Given the description of an element on the screen output the (x, y) to click on. 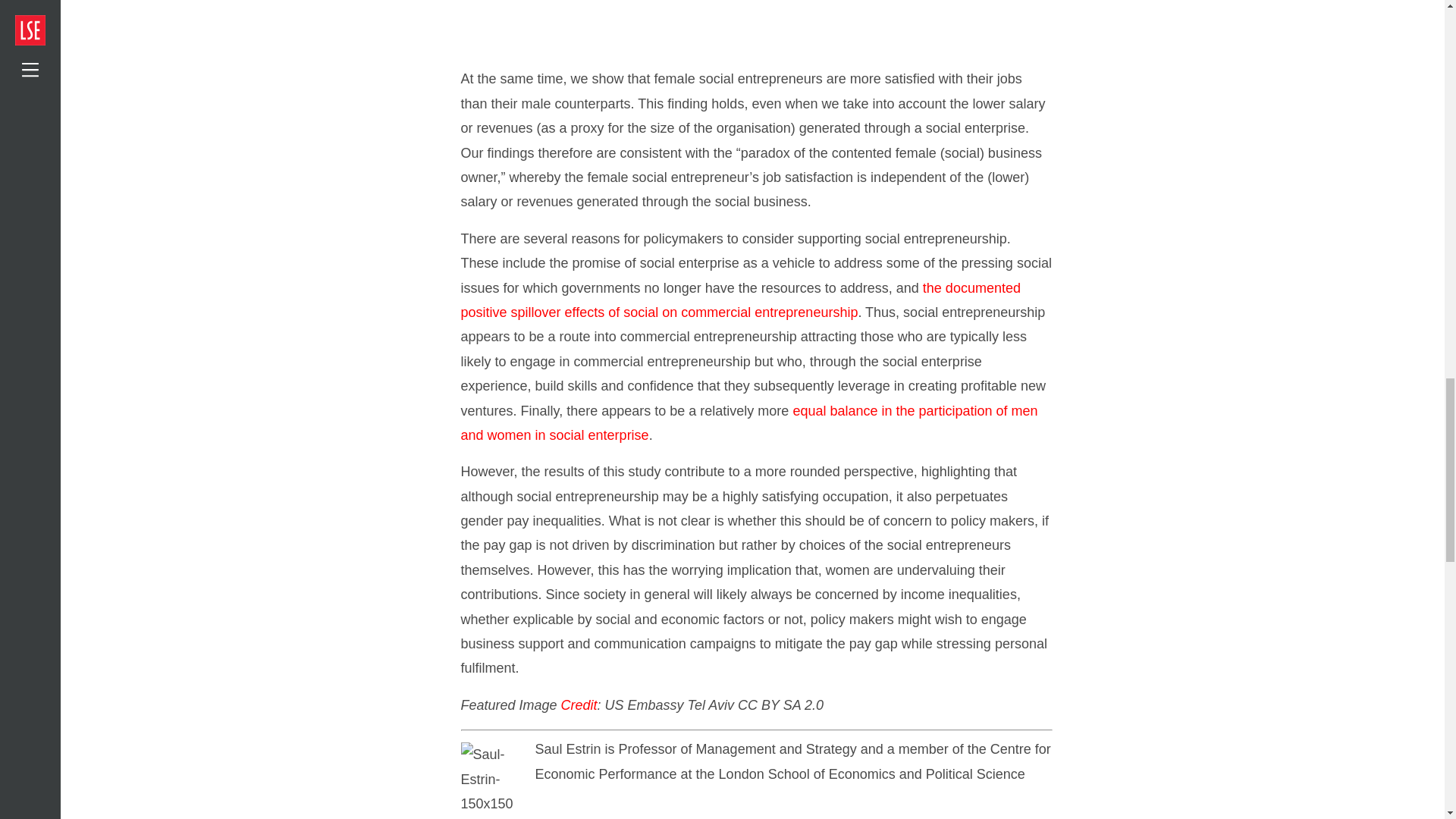
Credit (578, 704)
